Given the description of an element on the screen output the (x, y) to click on. 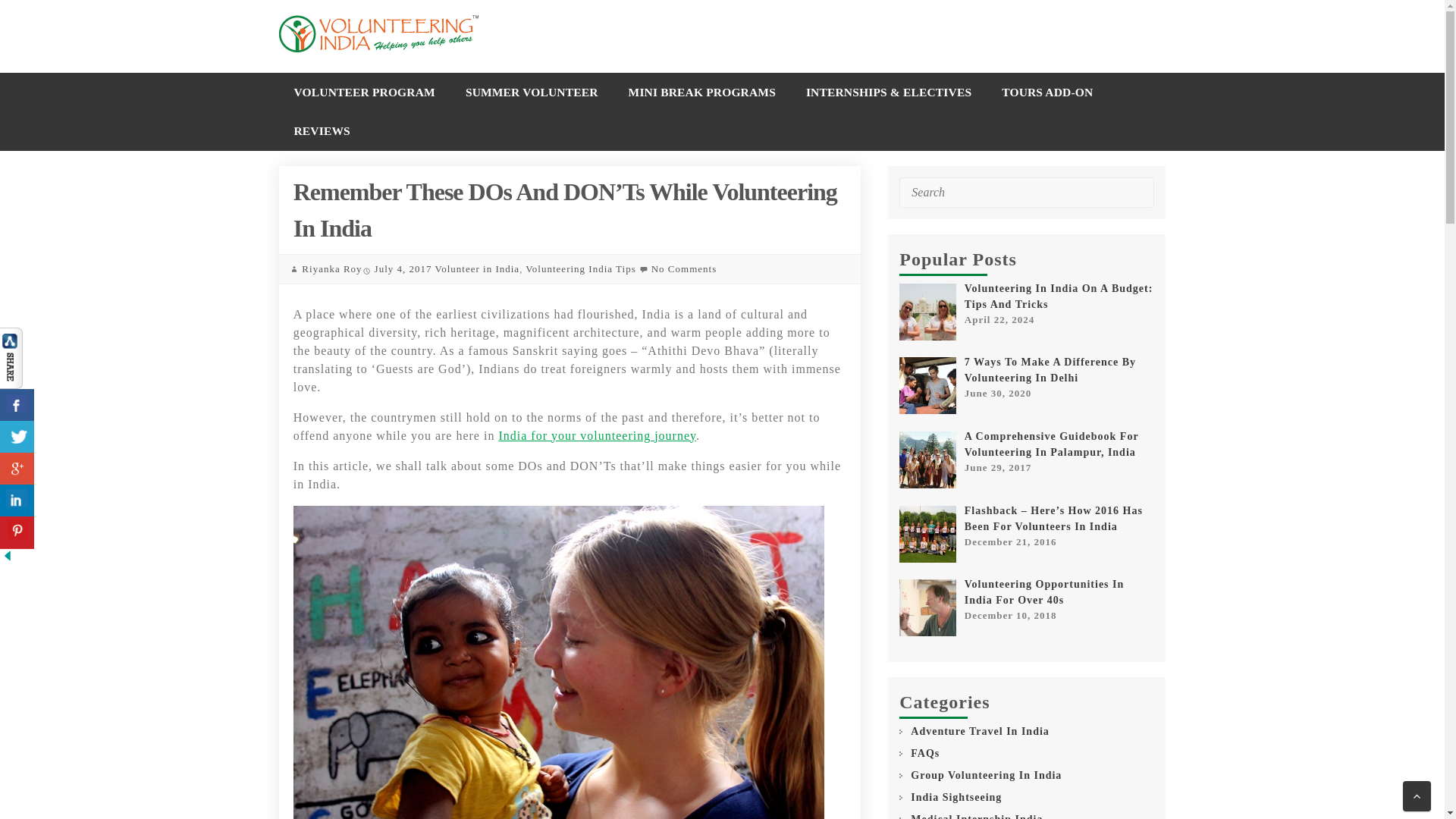
Adventure Travel In India (980, 731)
Volunteering India Tips (580, 268)
No Comments (683, 268)
Group Volunteering In India (986, 774)
MINI BREAK PROGRAMS (701, 91)
FAQs (925, 753)
India for your volunteering journey (596, 435)
Riyanka Roy (331, 268)
SUMMER VOLUNTEER (530, 91)
TOURS ADD-ON (1047, 91)
Volunteering India Blog (379, 36)
Medical Internship India (976, 815)
